Given the description of an element on the screen output the (x, y) to click on. 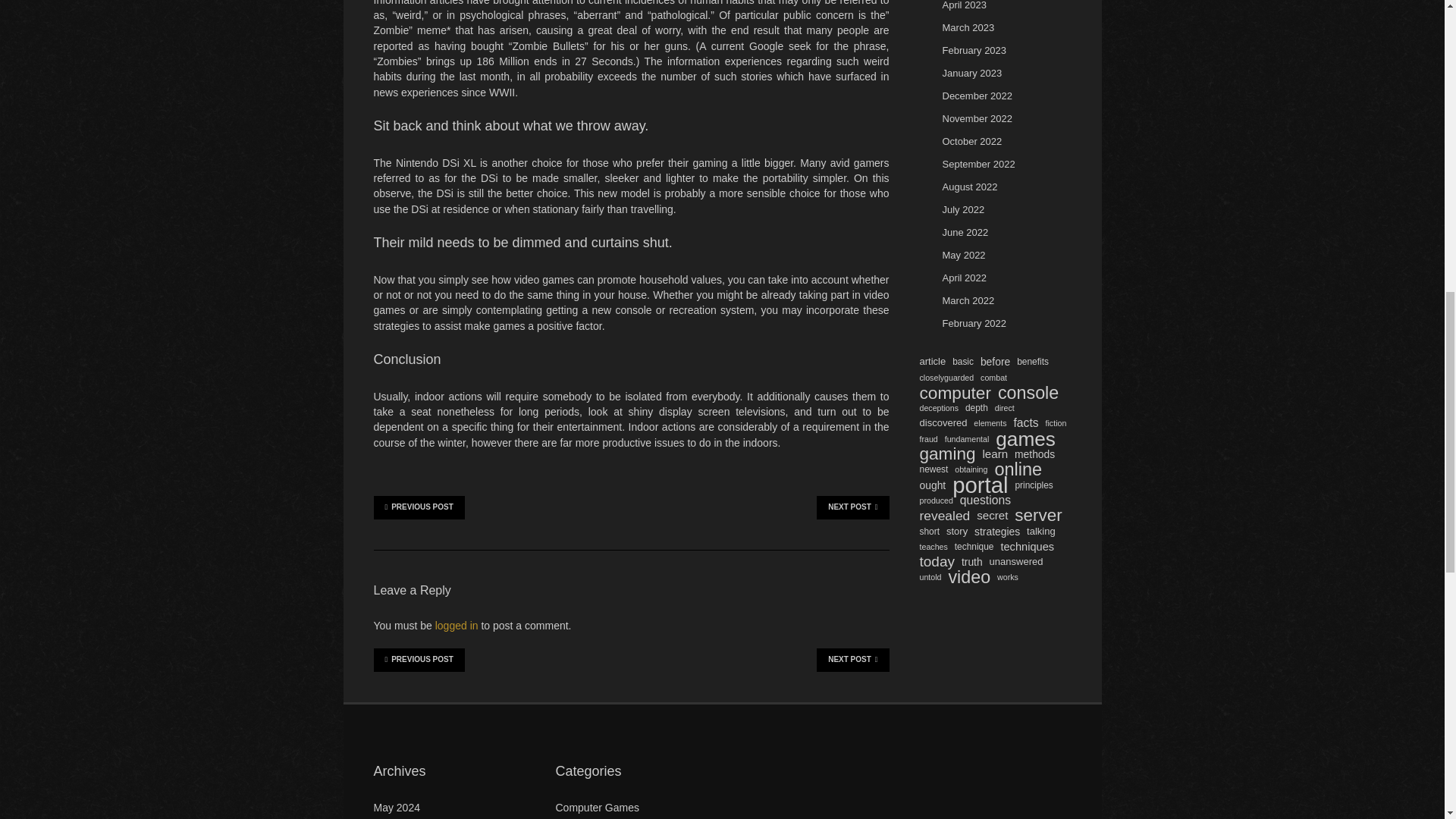
November 2022 (976, 118)
PREVIOUS POST (418, 659)
December 2022 (976, 95)
September 2022 (978, 163)
October 2022 (971, 141)
NEXT POST (852, 659)
logged in (457, 625)
NEXT POST (852, 507)
PREVIOUS POST (418, 507)
January 2023 (971, 72)
